Given the description of an element on the screen output the (x, y) to click on. 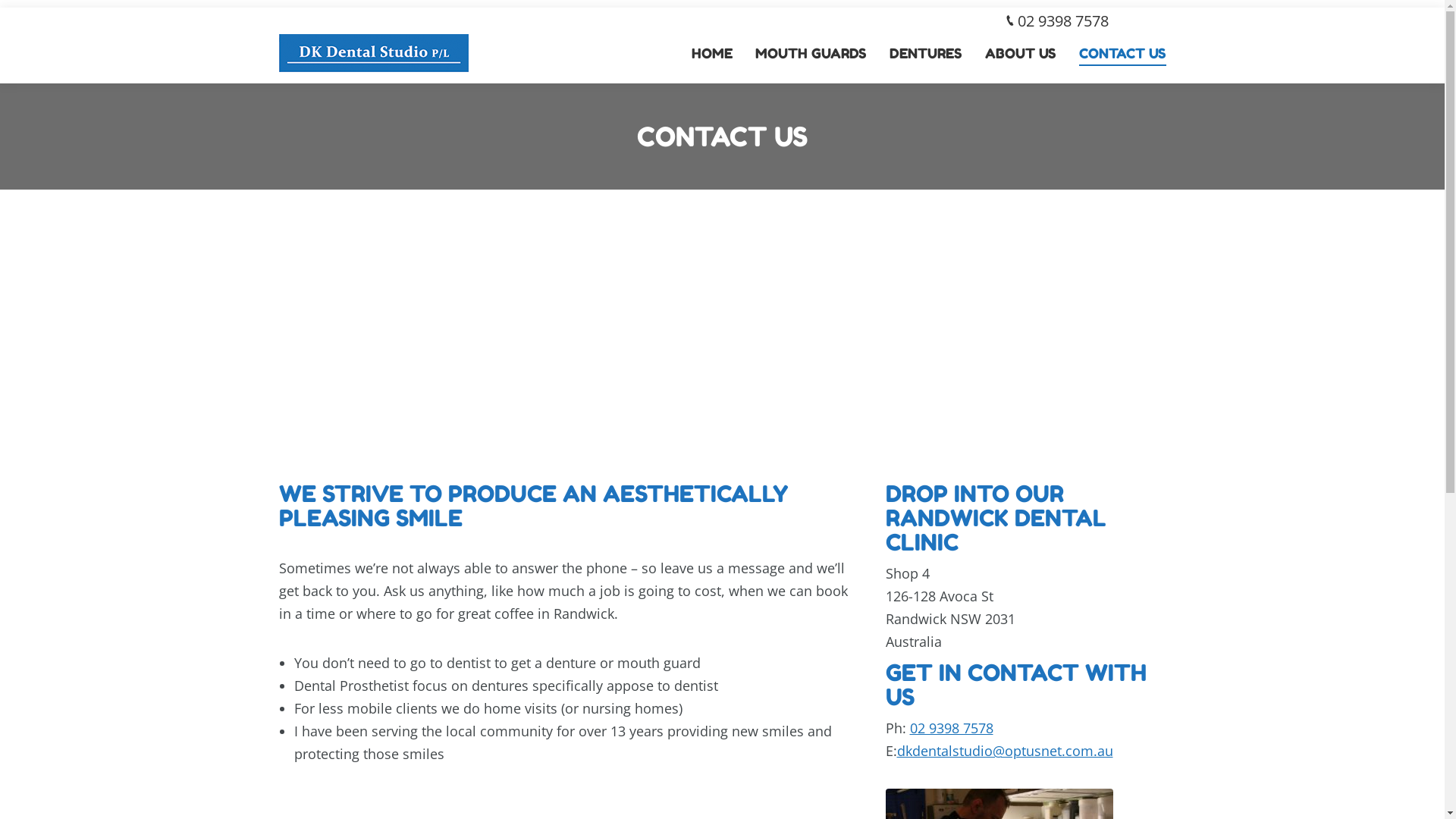
CONTACT US Element type: text (1113, 52)
ABOUT US Element type: text (1011, 52)
DENTURES Element type: text (916, 52)
MOUTH GUARDS Element type: text (800, 52)
dkdentalstudio@optusnet.com.au Element type: text (1004, 750)
HOME Element type: text (701, 52)
02 9398 7578 Element type: text (951, 727)
